Given the description of an element on the screen output the (x, y) to click on. 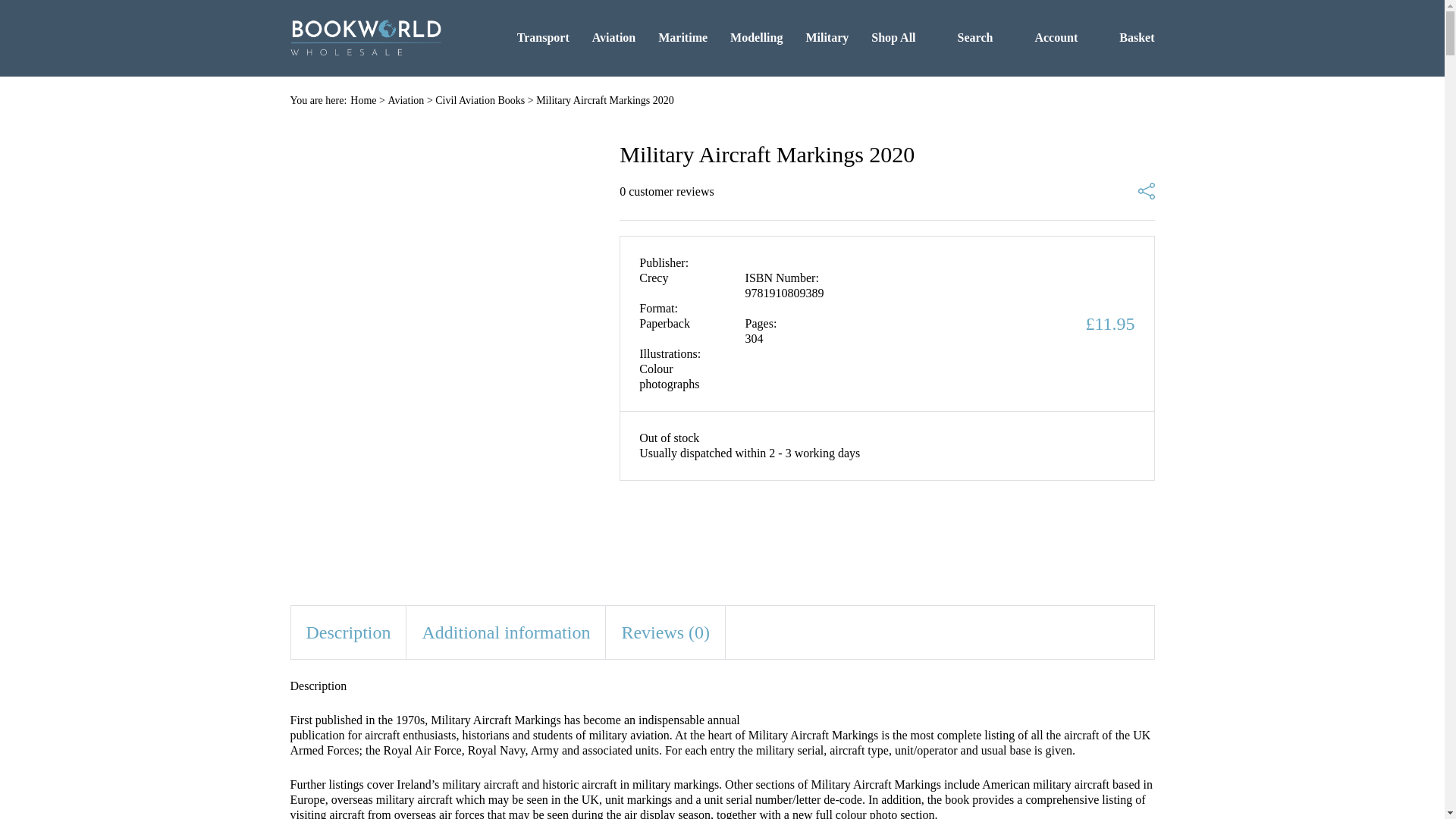
Basket (1127, 37)
Account (1045, 37)
Modelling (756, 37)
Civil Aviation Books (479, 100)
Aviation (613, 37)
Transport (542, 37)
0 customer reviews (666, 191)
Aviation (405, 100)
Additional information (505, 632)
Description (349, 632)
